Given the description of an element on the screen output the (x, y) to click on. 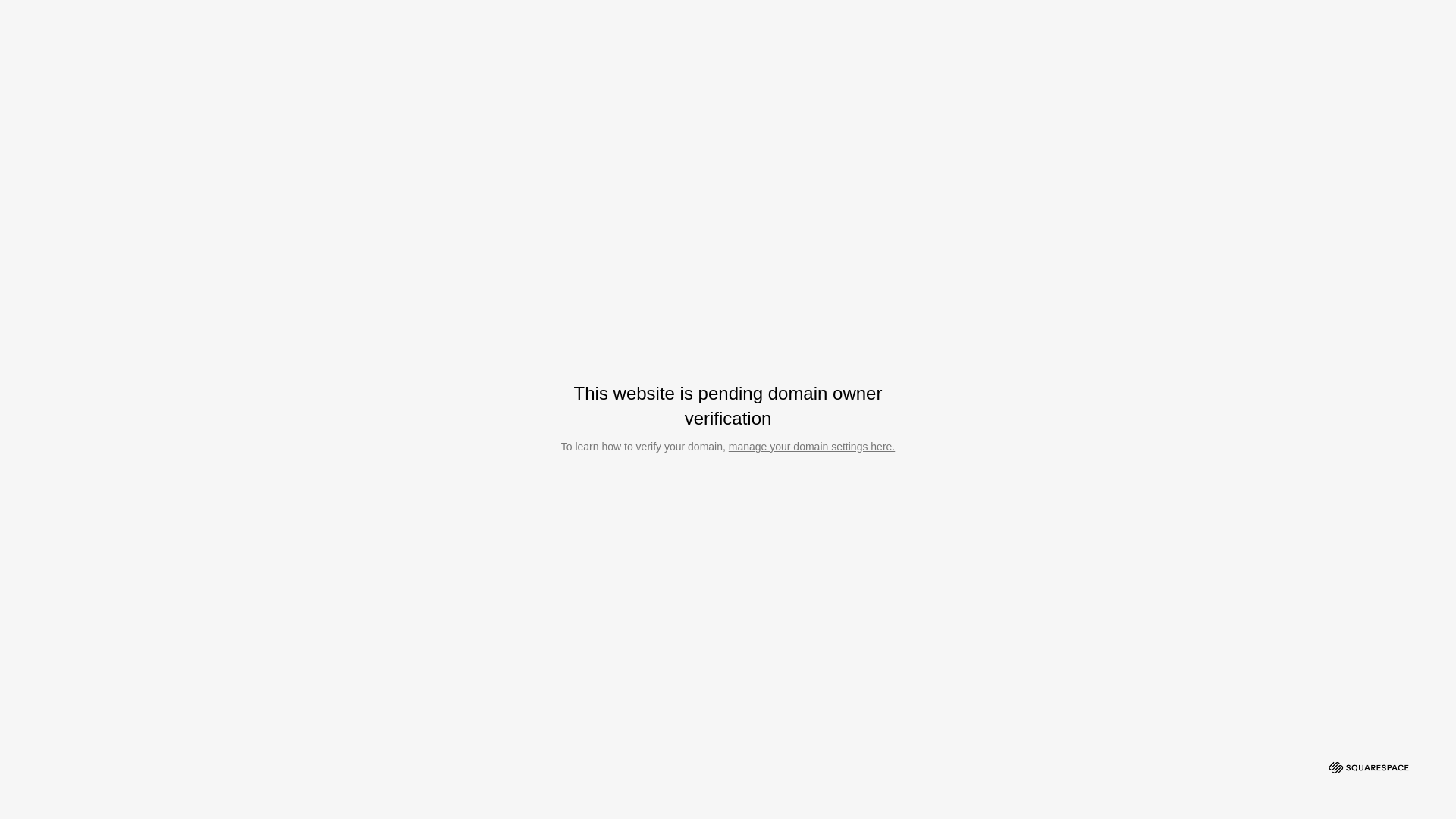
manage your domain settings here. Element type: text (811, 446)
